Given the description of an element on the screen output the (x, y) to click on. 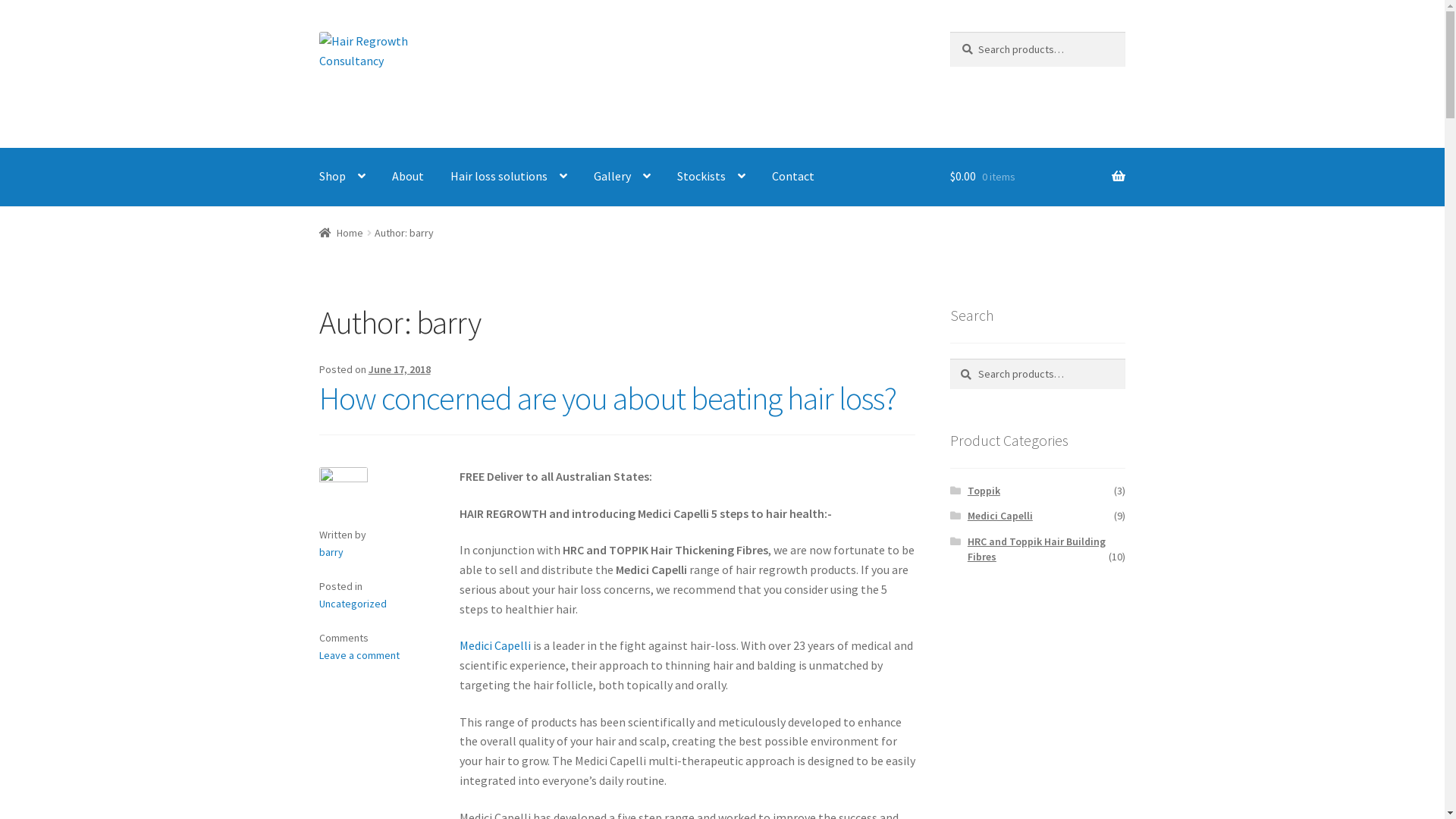
Home Element type: text (341, 232)
How concerned are you about beating hair loss? Element type: text (607, 397)
$0.00 0 items Element type: text (1037, 177)
Search Element type: text (949, 31)
Uncategorized Element type: text (352, 603)
Medici Capelli Element type: text (999, 515)
Contact Element type: text (792, 177)
Search Element type: text (949, 357)
Stockists Element type: text (711, 177)
June 17, 2018 Element type: text (399, 369)
About Element type: text (407, 177)
Toppik Element type: text (983, 490)
Hair loss solutions Element type: text (508, 177)
Medici Capelli Element type: text (494, 644)
Skip to navigation Element type: text (318, 31)
Shop Element type: text (342, 177)
Leave a comment Element type: text (359, 655)
HRC and Toppik Hair Building Fibres Element type: text (1036, 548)
Gallery Element type: text (621, 177)
barry Element type: text (331, 551)
